Given the description of an element on the screen output the (x, y) to click on. 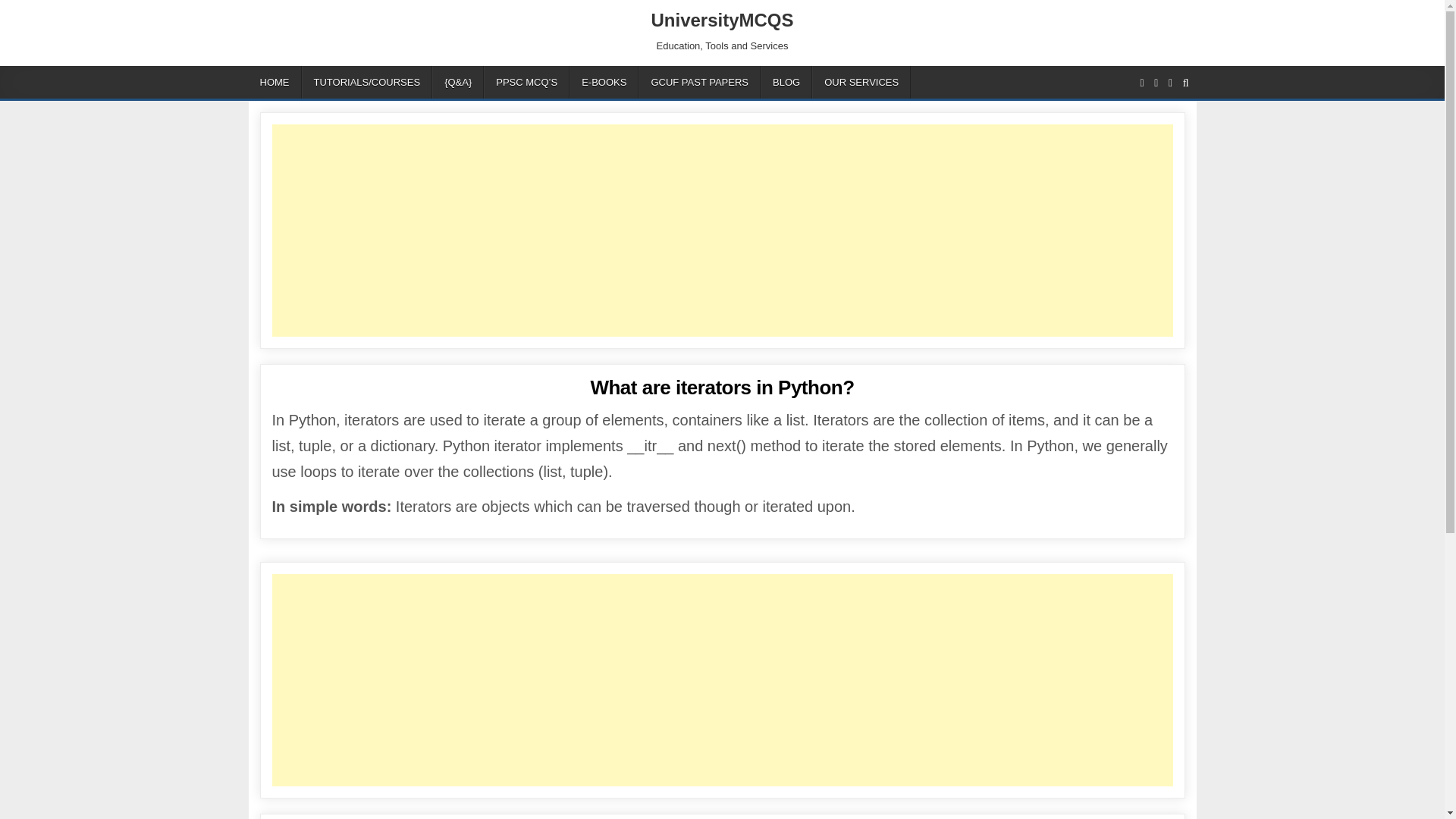
OUR SERVICES (861, 82)
UniversityMCQS (721, 19)
E-BOOKS (604, 82)
What are iterators in Python? (721, 386)
GCUF PAST PAPERS (699, 82)
BLOG (786, 82)
HOME (274, 82)
